Given the description of an element on the screen output the (x, y) to click on. 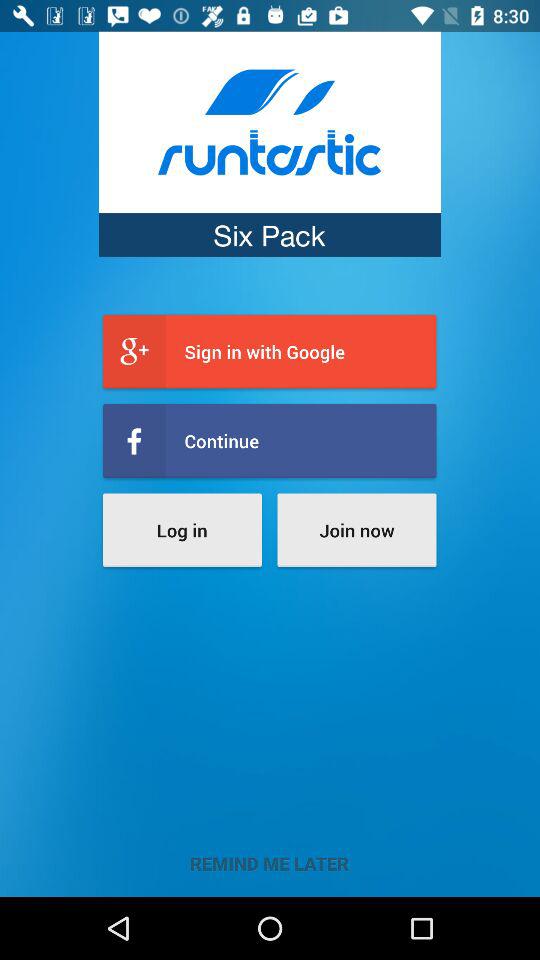
flip to the sign in with (269, 351)
